Given the description of an element on the screen output the (x, y) to click on. 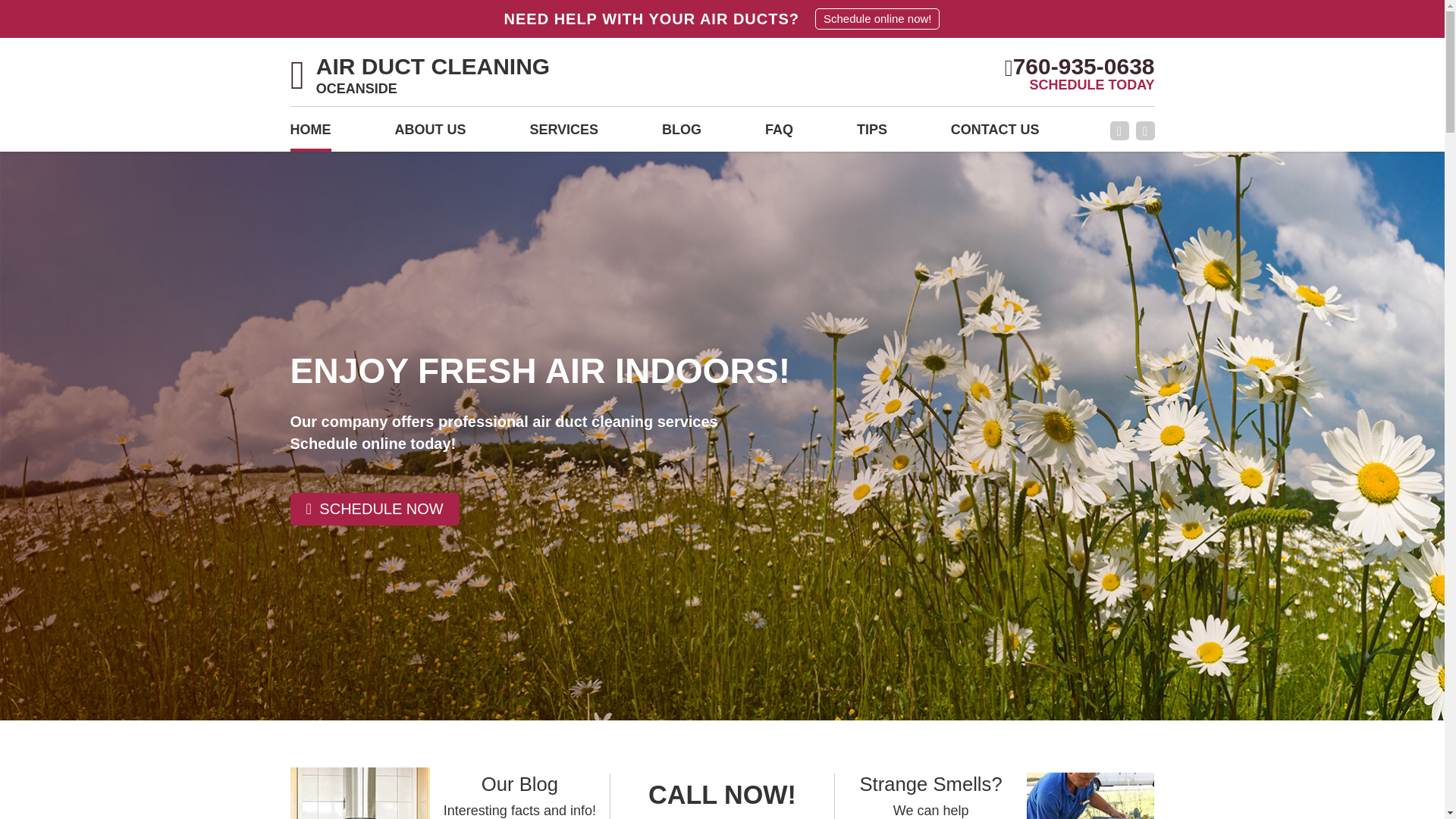
TIPS (871, 134)
Air Duct Cleaning Oceanside (419, 76)
YouTube (1144, 130)
HOME (309, 134)
Schedule online now! (877, 18)
ABOUT US (429, 134)
CONTACT US (994, 134)
BLOG (681, 134)
SERVICES (563, 134)
Facebook (419, 76)
